Given the description of an element on the screen output the (x, y) to click on. 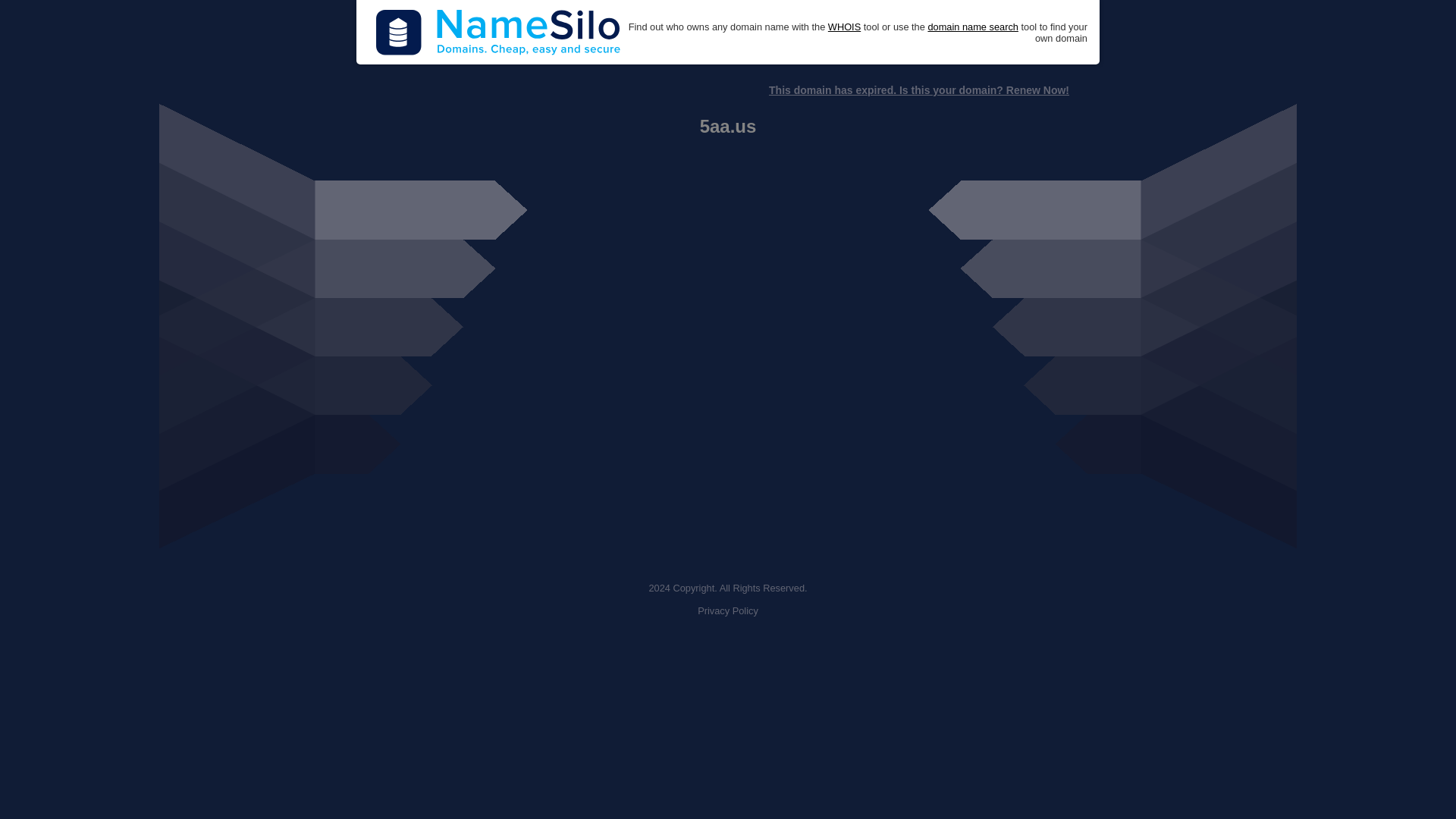
Privacy Policy (727, 610)
WHOIS (844, 26)
domain name search (972, 26)
This domain has expired. Is this your domain? Renew Now! (918, 90)
